Given the description of an element on the screen output the (x, y) to click on. 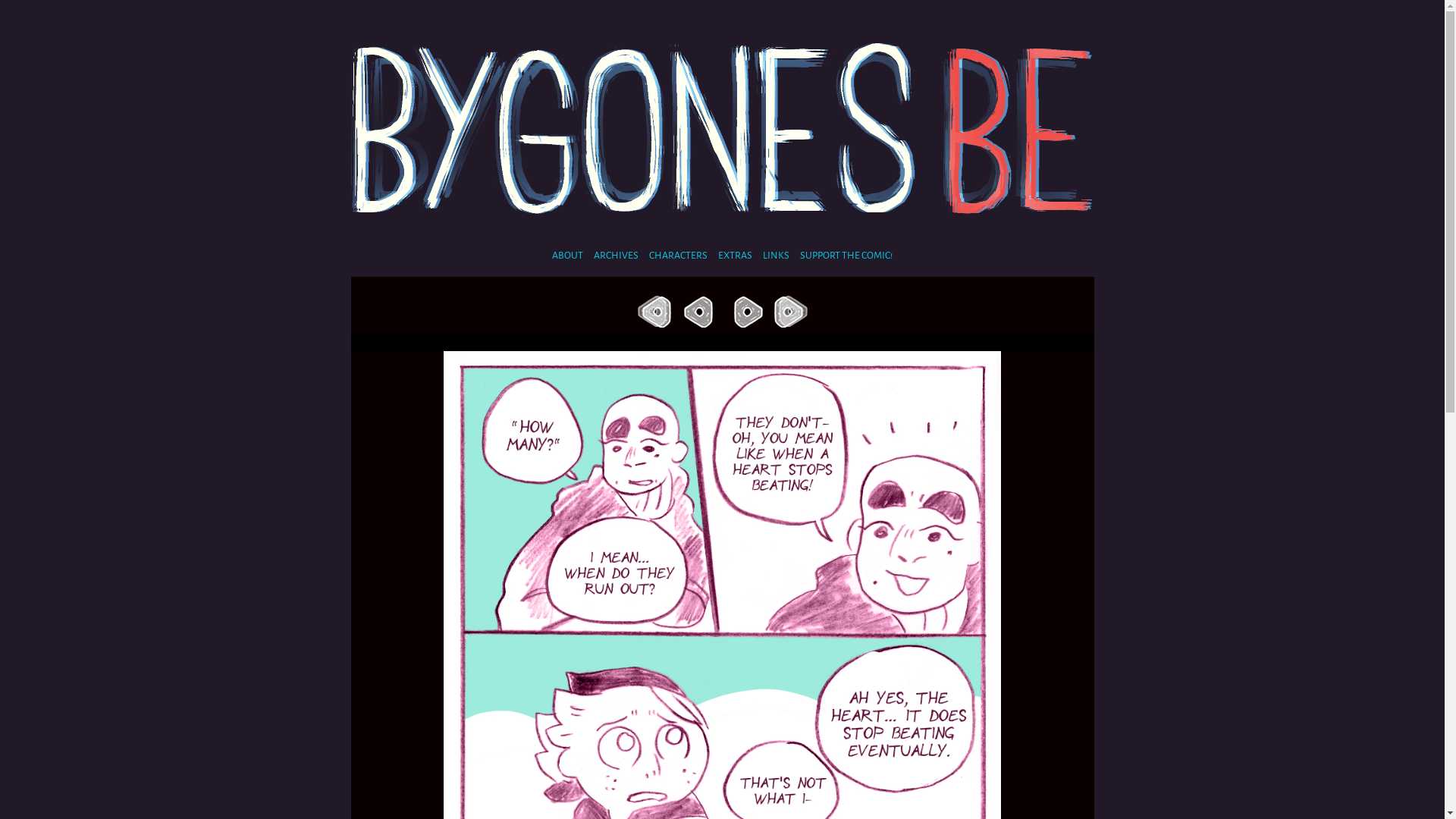
ABOUT Element type: text (567, 255)
LINKS Element type: text (775, 255)
BYGONES BE Element type: text (722, 121)
CHARACTERS Element type: text (677, 255)
EXTRAS Element type: text (734, 255)
SUPPORT THE COMIC! Element type: text (845, 255)
ARCHIVES Element type: text (615, 255)
